Given the description of an element on the screen output the (x, y) to click on. 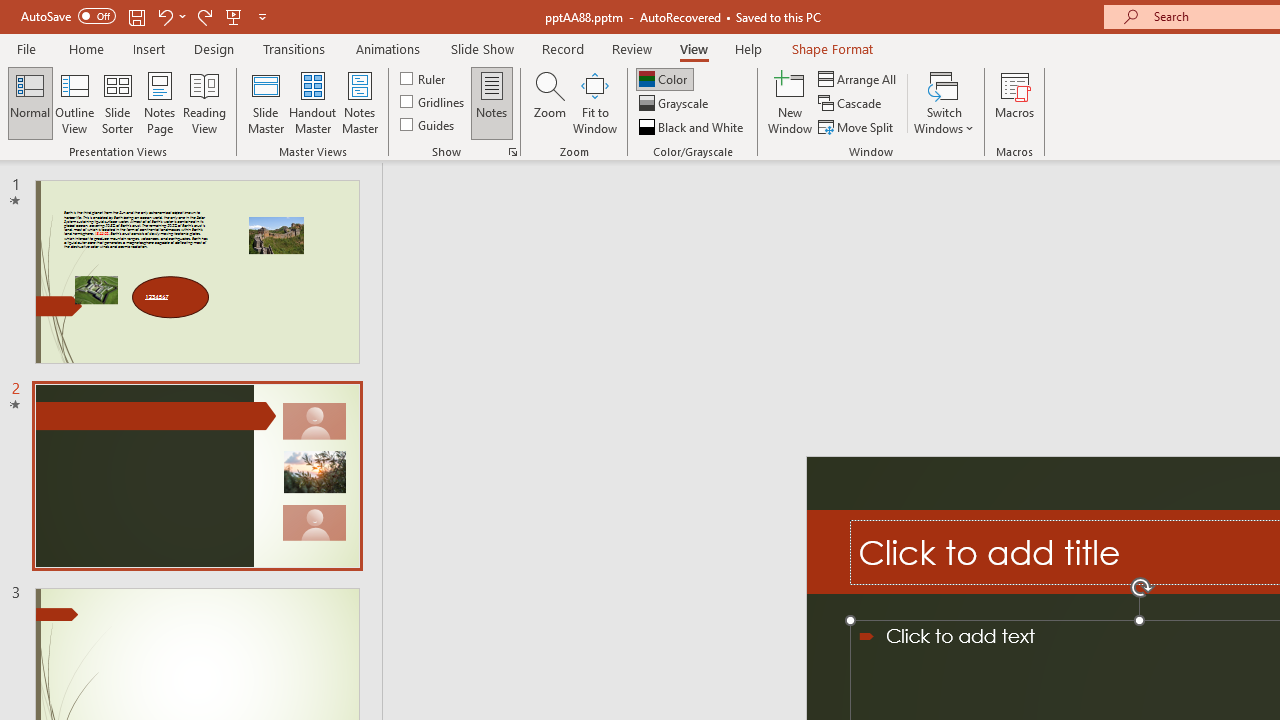
Outline View (74, 102)
Slide Master (265, 102)
New Window (790, 102)
Move Split (857, 126)
Ruler (423, 78)
